Given the description of an element on the screen output the (x, y) to click on. 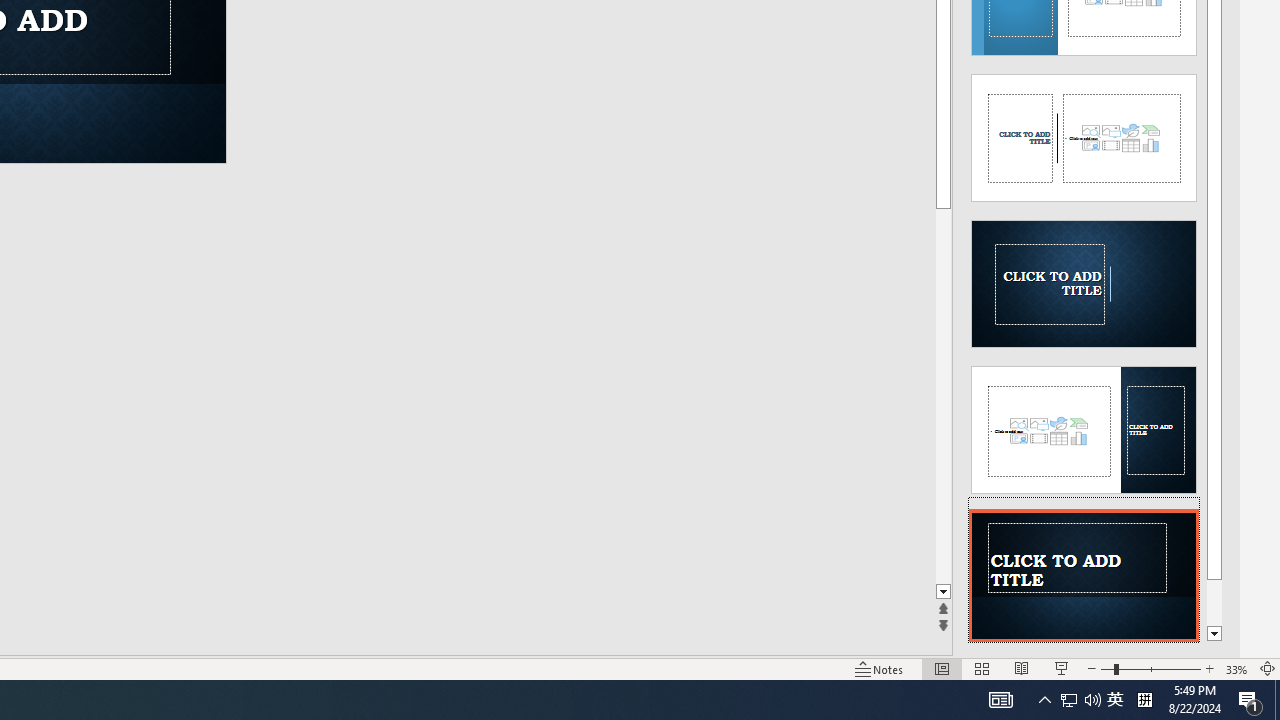
Zoom 33% (1236, 668)
